Given the description of an element on the screen output the (x, y) to click on. 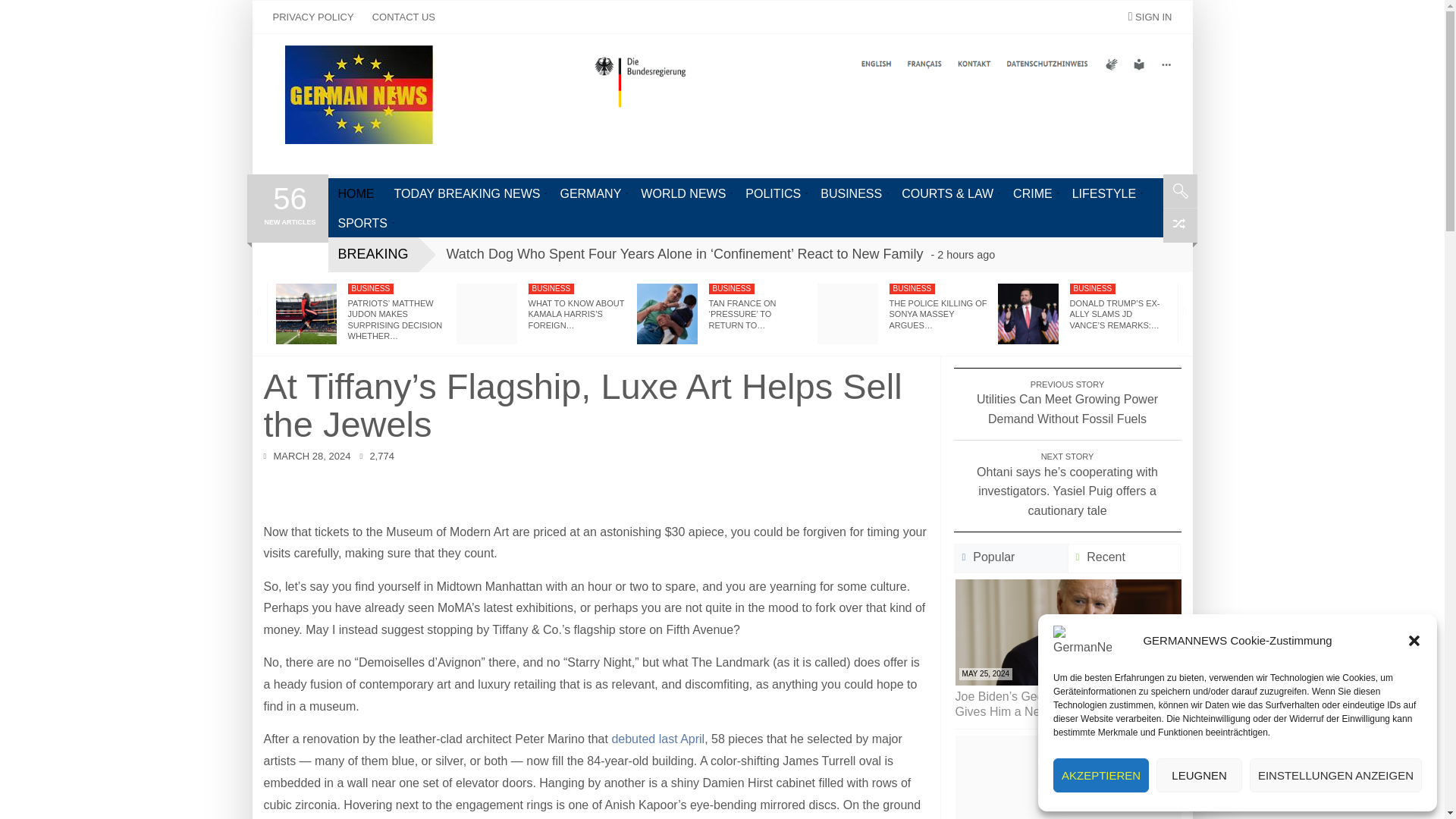
SIGN IN (1149, 16)
GermanNews (357, 94)
CONTACT US (403, 16)
GERMANY (590, 193)
Log In (1087, 47)
TODAY BREAKING NEWS (467, 193)
HOME (355, 193)
PRIVACY POLICY (312, 16)
EINSTELLUNGEN ANZEIGEN (1335, 775)
LEUGNEN (1198, 775)
AKZEPTIEREN (1100, 775)
